Given the description of an element on the screen output the (x, y) to click on. 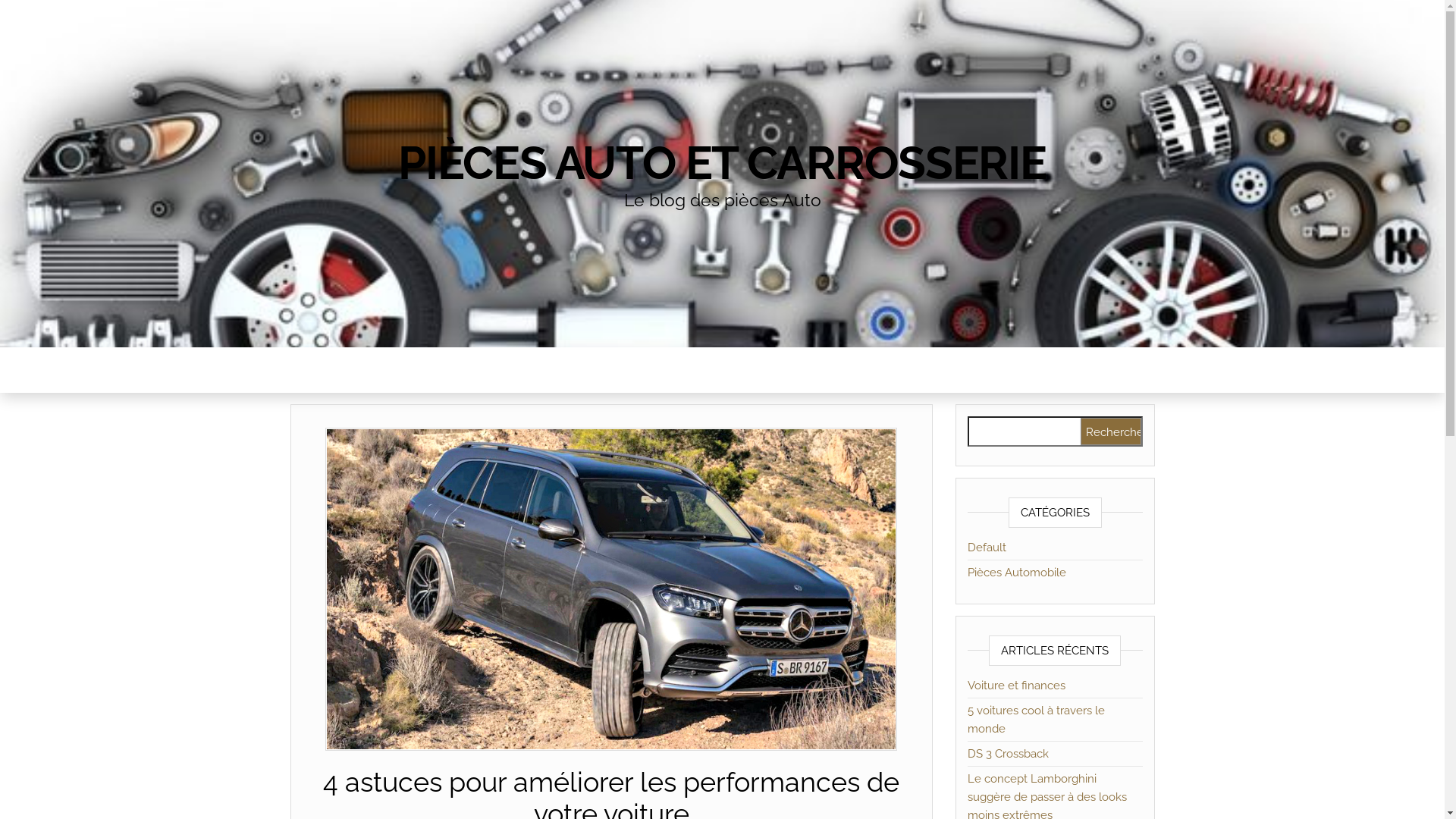
DS 3 Crossback Element type: text (1007, 753)
Voiture et finances Element type: text (1016, 685)
Rechercher Element type: text (1109, 431)
Default Element type: text (986, 547)
